Given the description of an element on the screen output the (x, y) to click on. 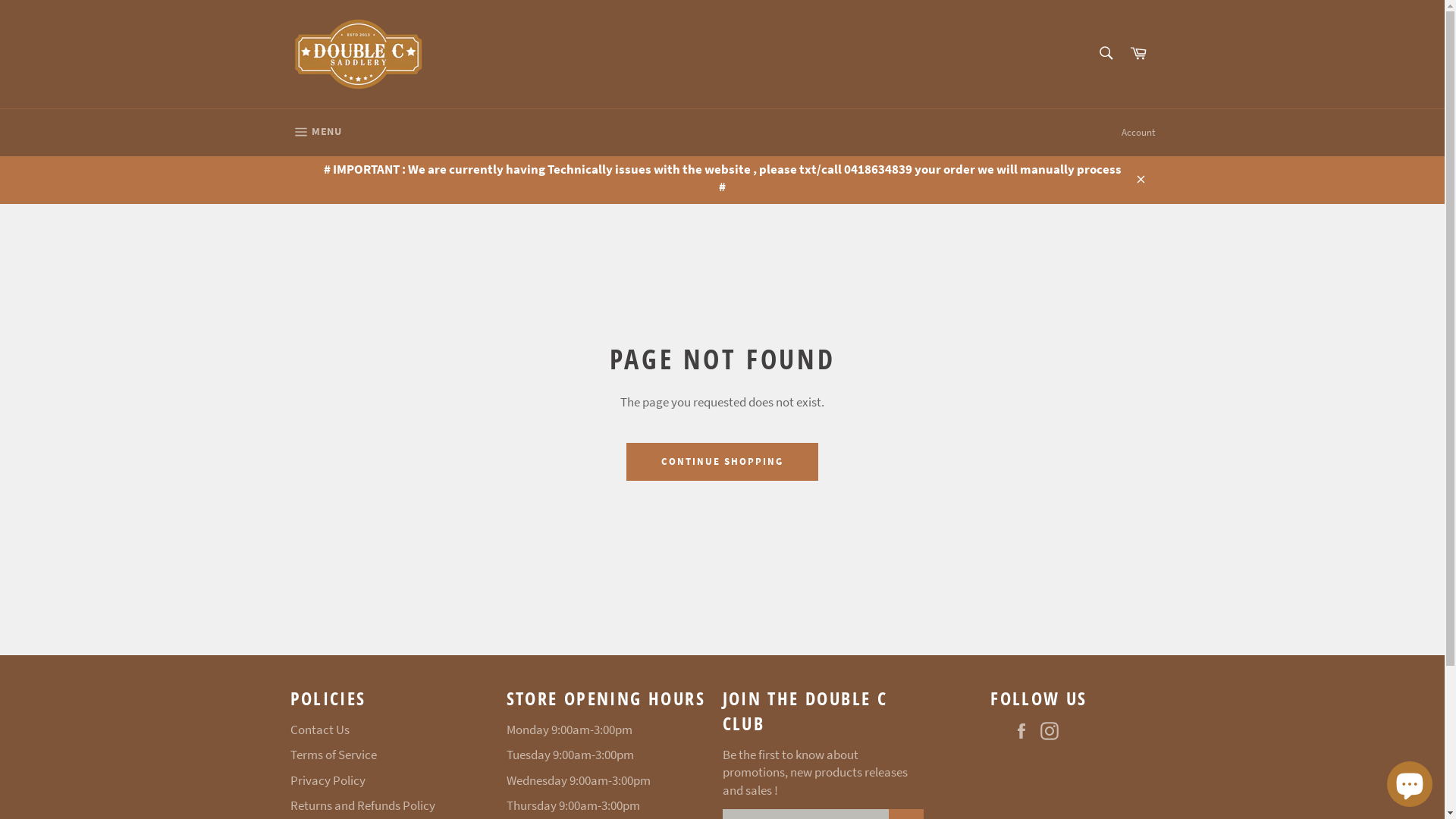
Search Element type: text (1105, 53)
Contact Us Element type: text (318, 729)
MENU
SITE NAVIGATION Element type: text (315, 132)
Close Element type: text (1138, 178)
Terms of Service Element type: text (332, 754)
Cart Element type: text (1138, 54)
Account Element type: text (1137, 132)
Facebook Element type: text (1024, 730)
CONTINUE SHOPPING Element type: text (721, 461)
Privacy Policy Element type: text (326, 779)
Shopify online store chat Element type: hover (1409, 780)
Returns and Refunds Policy Element type: text (361, 805)
Instagram Element type: text (1053, 730)
